Given the description of an element on the screen output the (x, y) to click on. 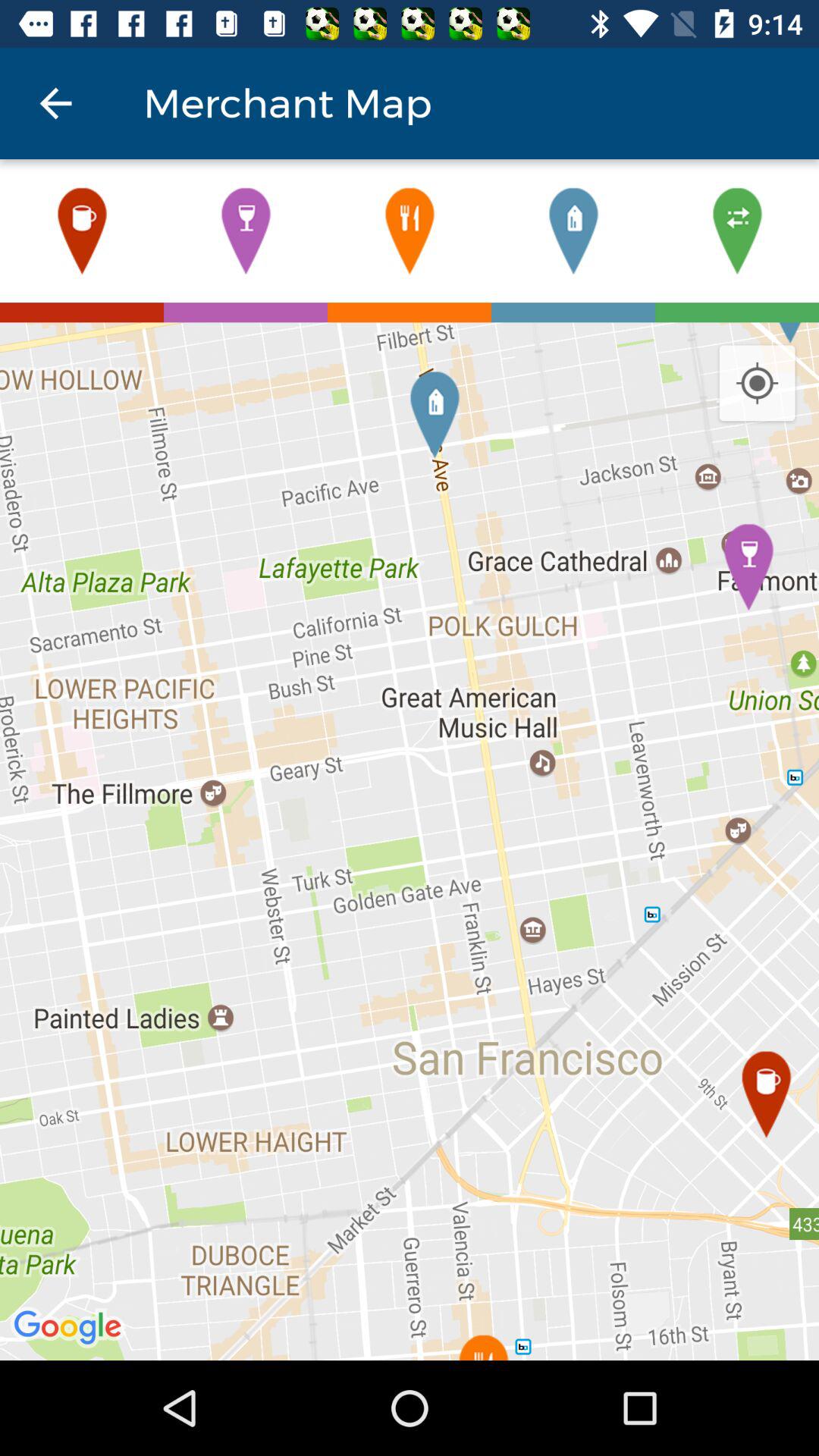
tap the icon next to merchant map item (55, 103)
